Given the description of an element on the screen output the (x, y) to click on. 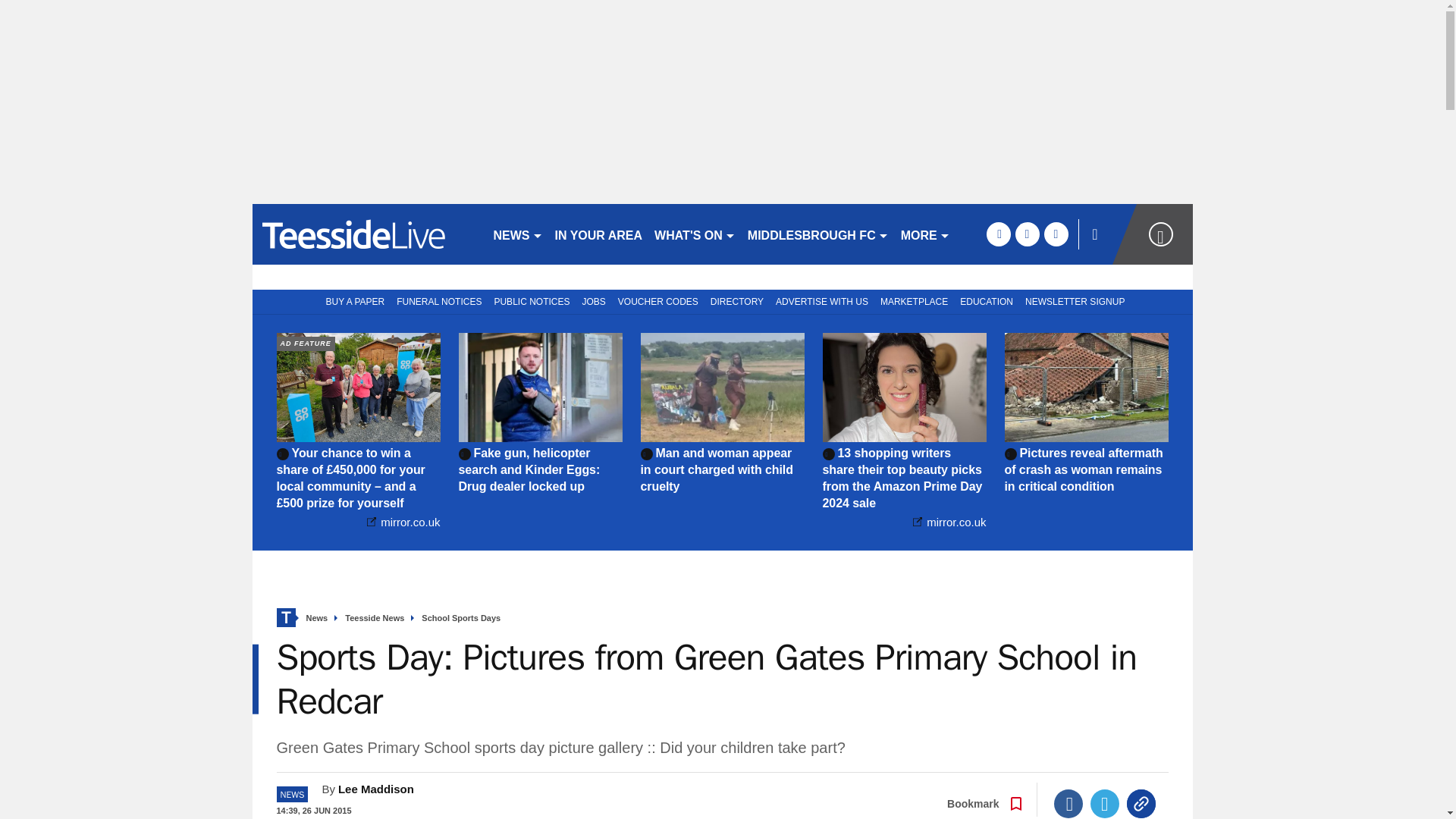
instagram (1055, 233)
Facebook (1068, 803)
IN YOUR AREA (598, 233)
NEWS (517, 233)
Twitter (1104, 803)
MORE (925, 233)
gazettelive (365, 233)
WHAT'S ON (694, 233)
MIDDLESBROUGH FC (818, 233)
facebook (997, 233)
twitter (1026, 233)
